Given the description of an element on the screen output the (x, y) to click on. 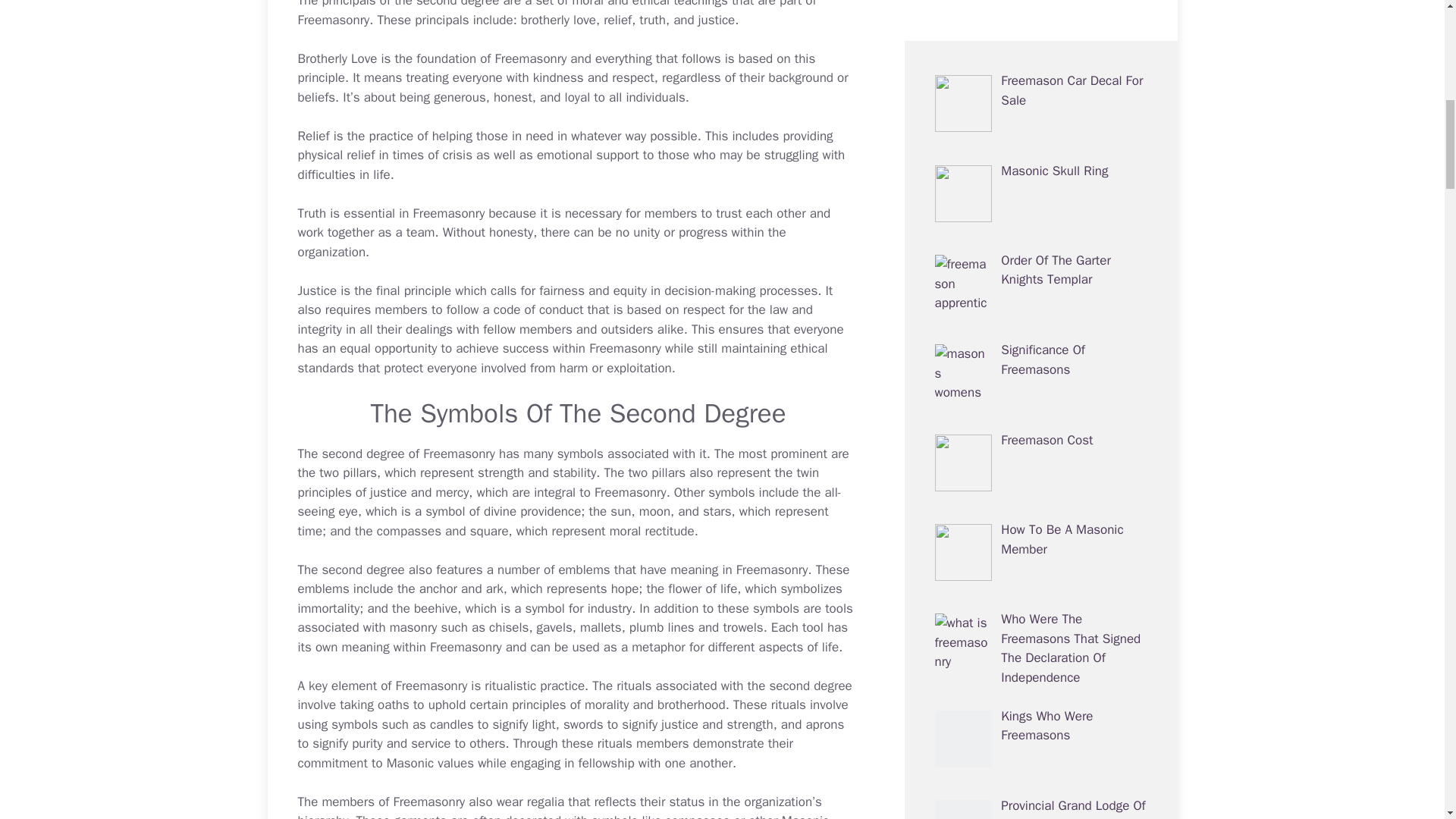
What Does The Masonic Emblem Mean (637, 569)
emblems that have meaning (637, 569)
Freemasonry (333, 19)
Scroll back to top (1406, 720)
Freemasonry (333, 19)
